Given the description of an element on the screen output the (x, y) to click on. 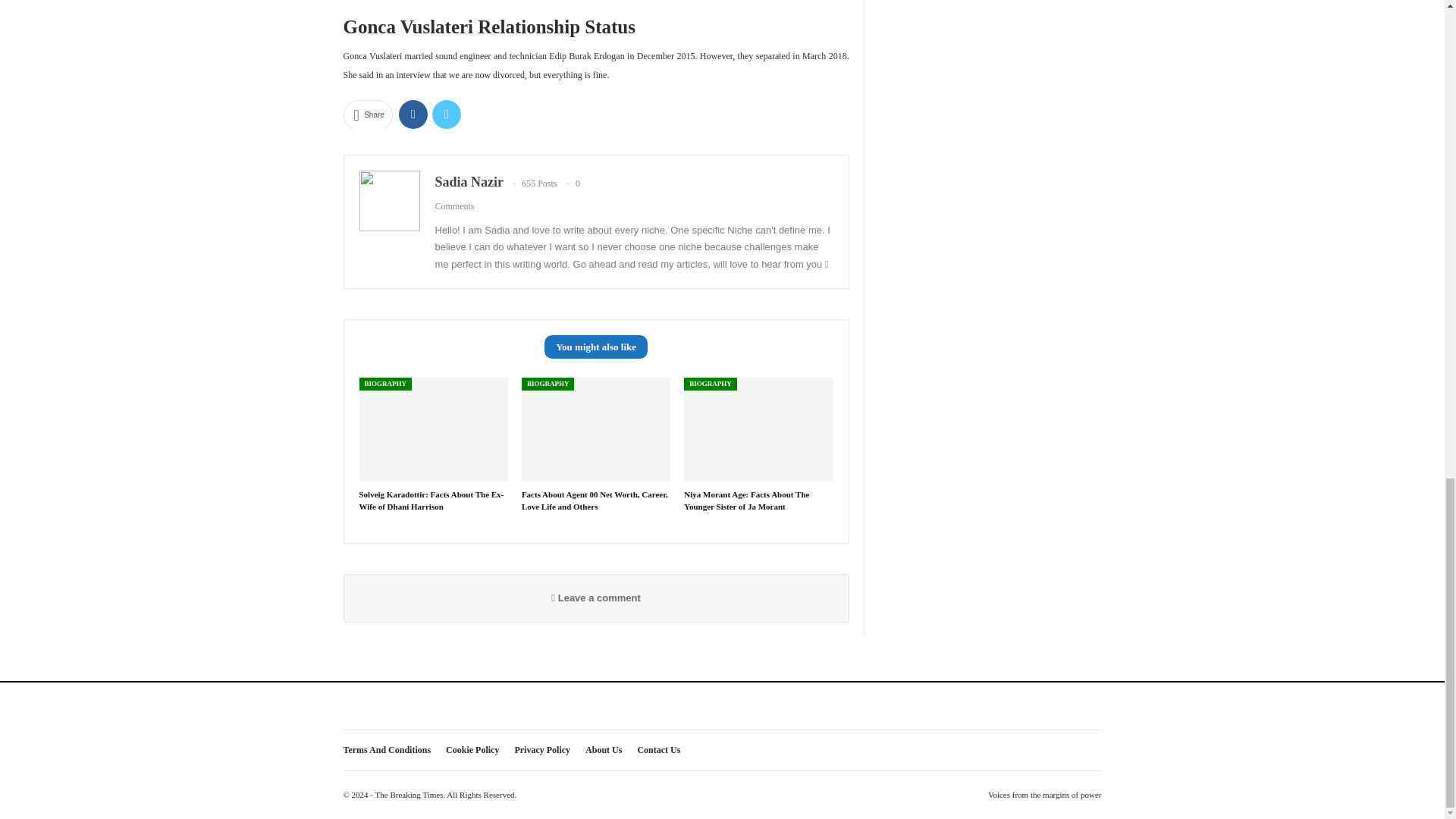
BIOGRAPHY (548, 383)
Niya Morant Age: Facts About The Younger Sister of Ja Morant (758, 429)
Facts About Agent 00 Net Worth, Career, Love Life and Others (594, 499)
Facts About Agent 00 Net Worth, Career, Love Life and Others (594, 499)
Niya Morant Age: Facts About The Younger Sister of Ja Morant (746, 499)
Sadia Nazir (469, 181)
BIOGRAPHY (385, 383)
Niya Morant Age: Facts About The Younger Sister of Ja Morant (746, 499)
Facts About Agent 00 Net Worth, Career, Love Life and Others (595, 429)
Leave a comment (595, 597)
BIOGRAPHY (710, 383)
